Given the description of an element on the screen output the (x, y) to click on. 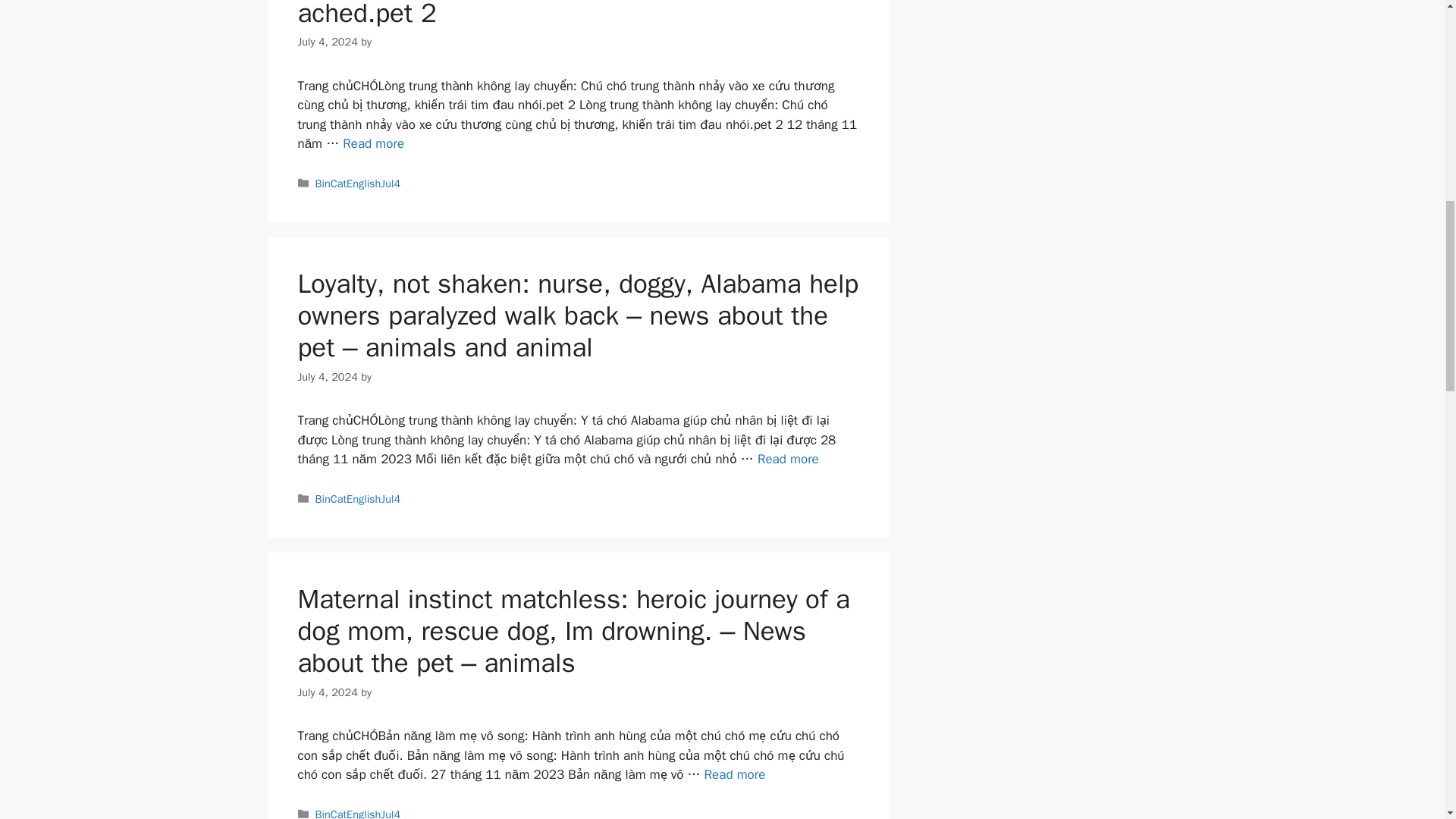
Read more (734, 774)
BinCatEnglishJul4 (357, 499)
BinCatEnglishJul4 (357, 183)
Read more (373, 143)
Read more (787, 458)
BinCatEnglishJul4 (357, 813)
